Given the description of an element on the screen output the (x, y) to click on. 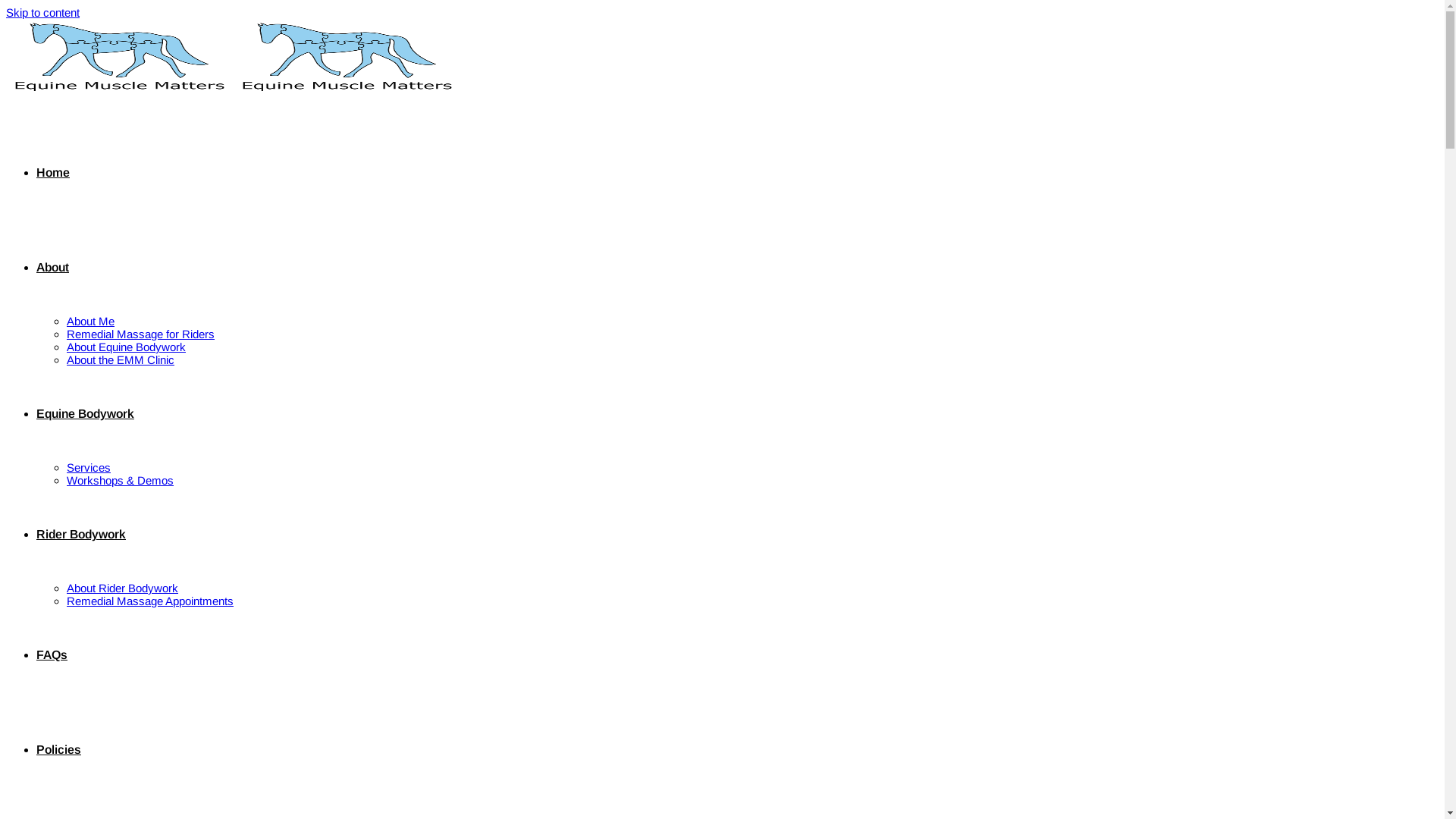
About the EMM Clinic Element type: text (120, 359)
Remedial Massage Appointments Element type: text (149, 600)
About Rider Bodywork Element type: text (122, 587)
Remedial Massage for Riders Element type: text (140, 333)
Workshops & Demos Element type: text (119, 479)
Skip to content Element type: text (42, 12)
About Equine Bodywork Element type: text (125, 346)
About Me Element type: text (90, 320)
Home Element type: text (52, 172)
About Element type: text (52, 266)
Rider Bodywork Element type: text (80, 533)
Services Element type: text (88, 467)
Policies Element type: text (58, 749)
FAQs Element type: text (51, 654)
Equine Bodywork Element type: text (85, 413)
